Given the description of an element on the screen output the (x, y) to click on. 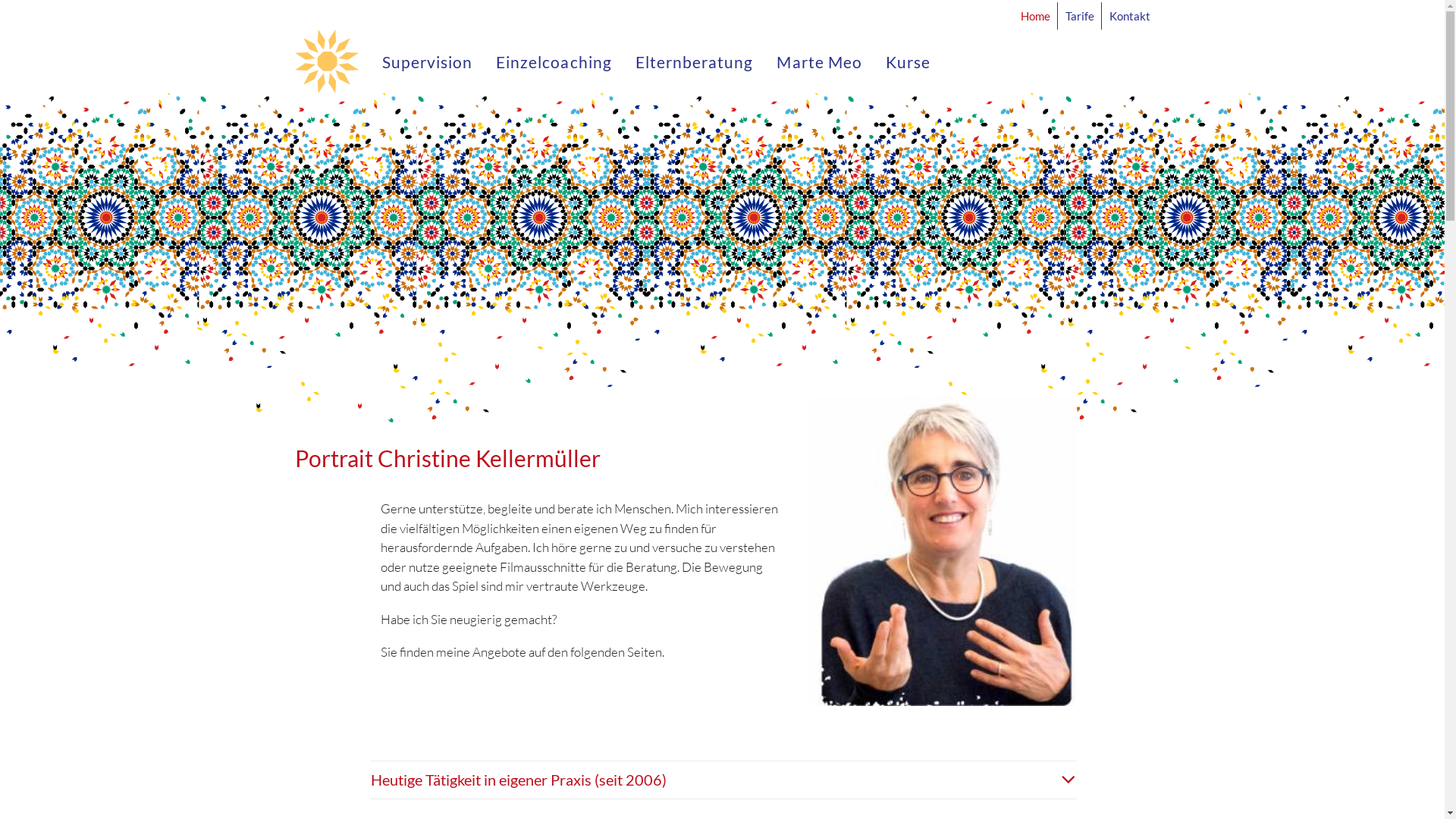
Marte Meo Element type: text (818, 61)
Einzelcoaching Element type: text (553, 61)
Kontakt Element type: text (1126, 15)
Home Element type: text (1038, 15)
Elternberatung Element type: text (694, 61)
Kurse Element type: text (902, 61)
Supervision Element type: text (432, 61)
Tarife Element type: text (1079, 15)
